Given the description of an element on the screen output the (x, y) to click on. 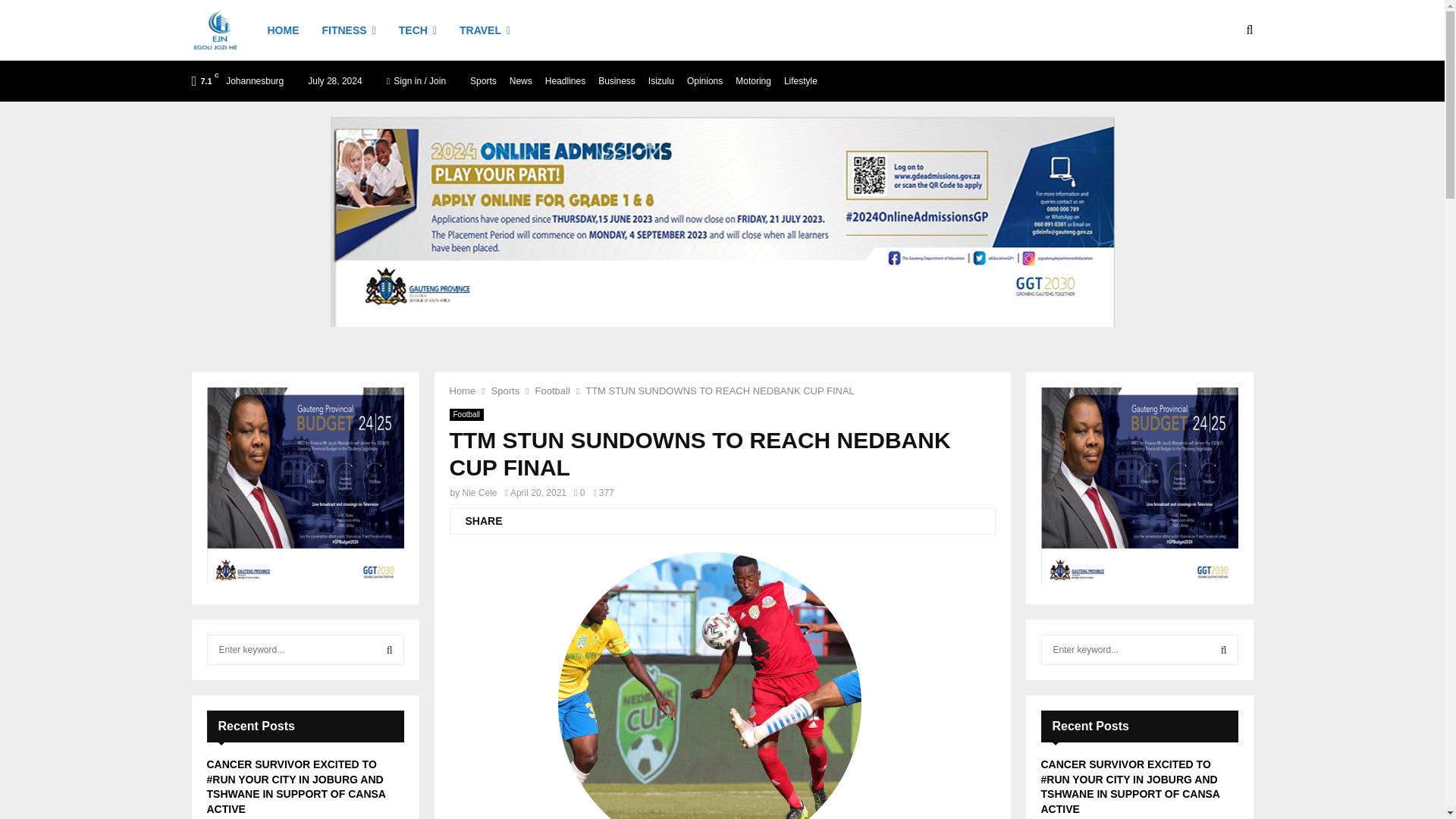
FITNESS (348, 30)
TECH (417, 30)
HOME (282, 30)
